Given the description of an element on the screen output the (x, y) to click on. 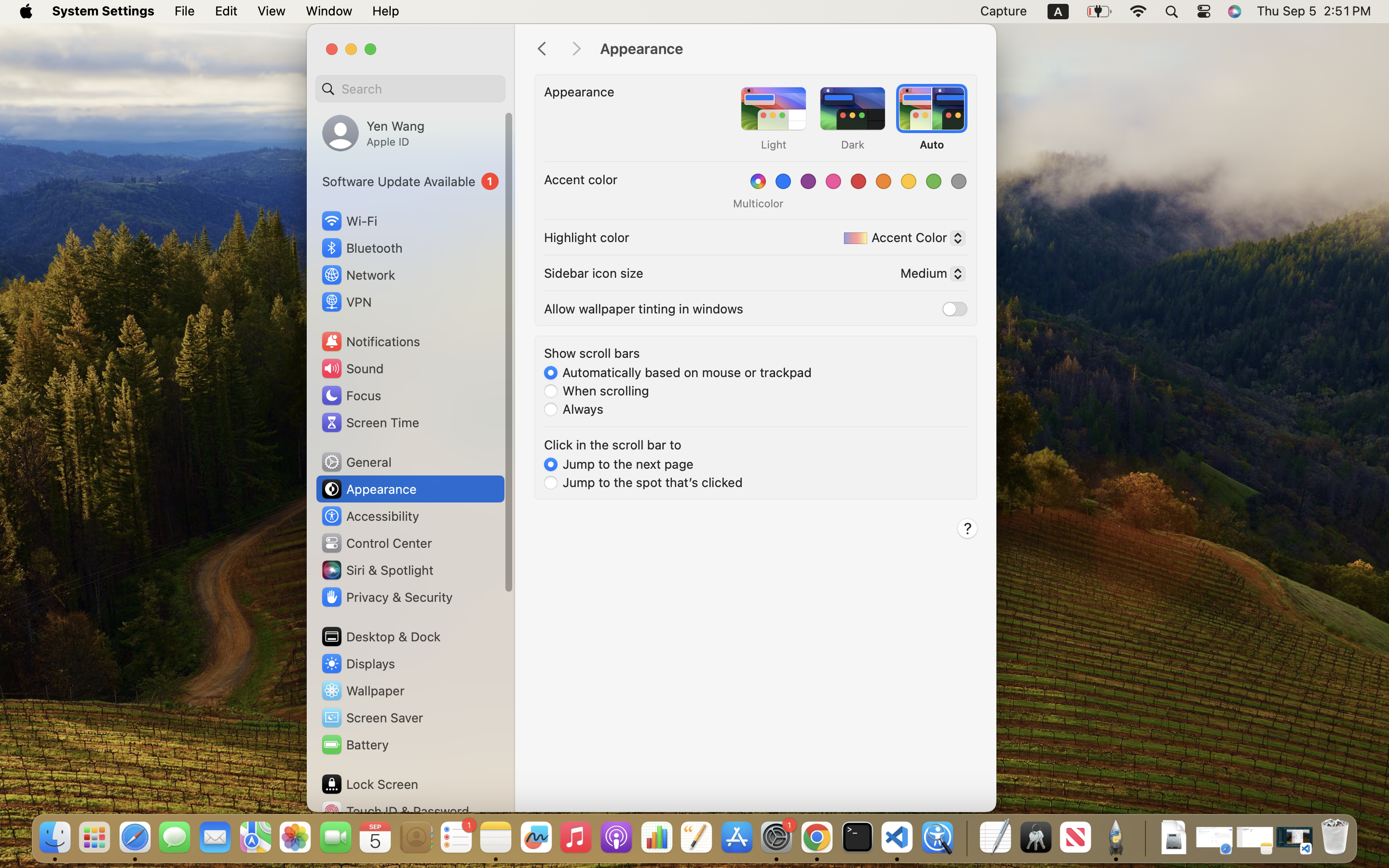
Click in the scroll bar to Element type: AXStaticText (612, 444)
Touch ID & Password Element type: AXStaticText (394, 810)
Focus Element type: AXStaticText (350, 394)
Network Element type: AXStaticText (357, 274)
0.4285714328289032 Element type: AXDockItem (965, 837)
